Given the description of an element on the screen output the (x, y) to click on. 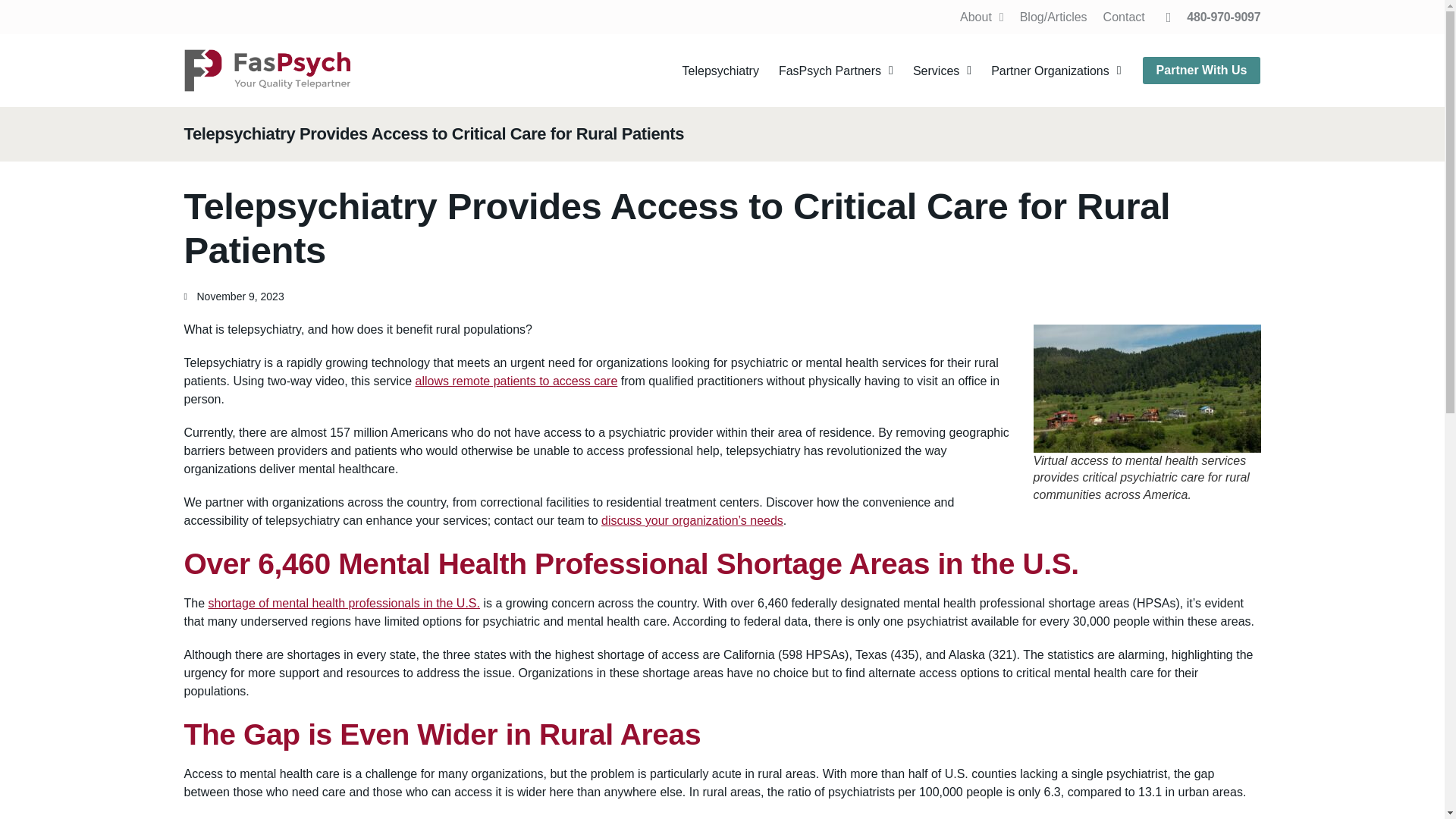
About (981, 16)
Contact (1124, 16)
Partner Organizations (1055, 69)
480-970-9097 (1213, 16)
Services (941, 69)
FasPsych Partners (836, 69)
Telepsychiatry (721, 69)
